Given the description of an element on the screen output the (x, y) to click on. 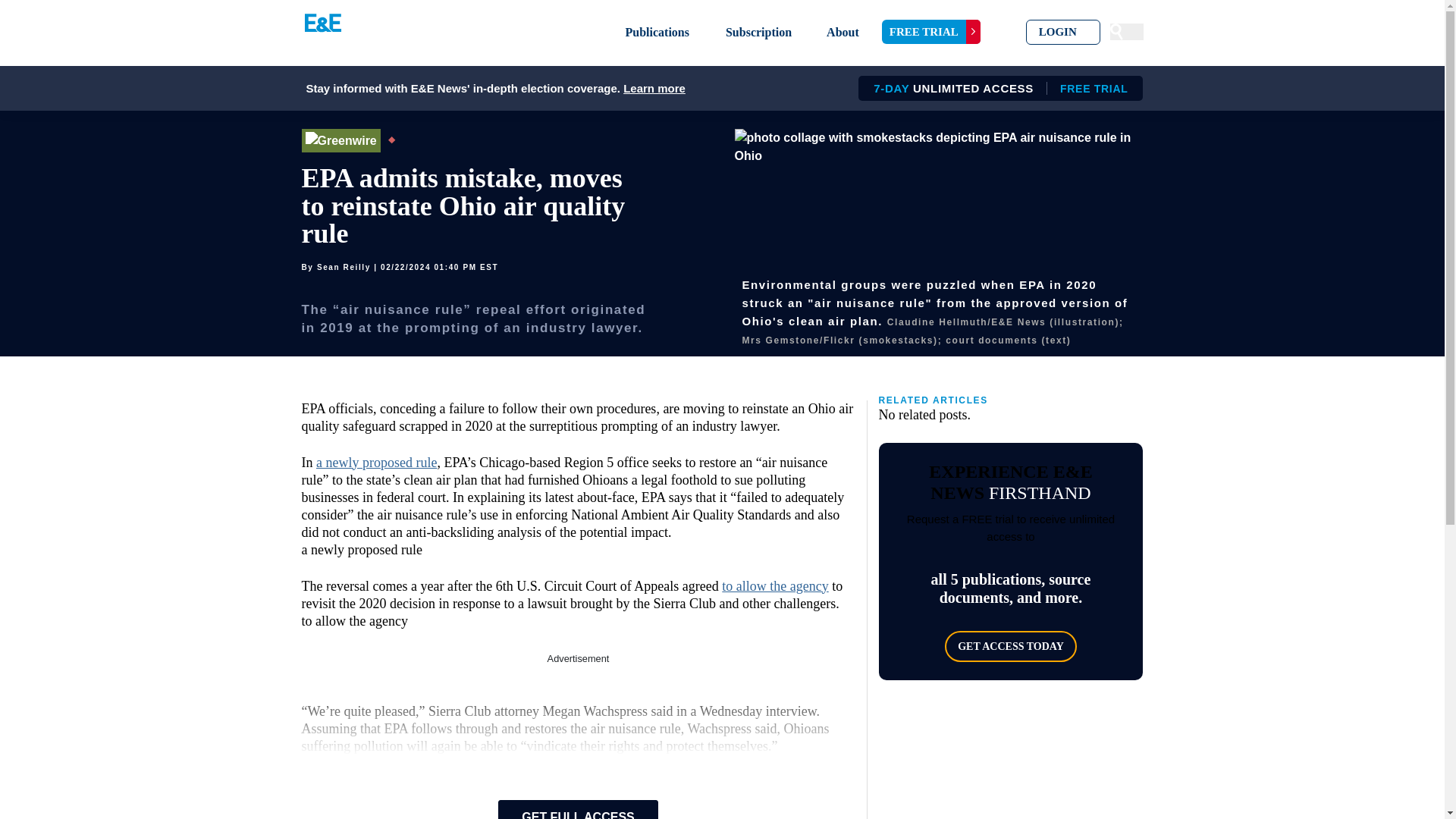
a newly proposed rule (375, 462)
FREE TRIAL (930, 31)
LOGIN (1063, 32)
to allow the agency (775, 585)
GET ACCESS TODAY (1010, 645)
Publications (656, 32)
Subscription (758, 32)
About (843, 32)
Learn more (654, 88)
